Given the description of an element on the screen output the (x, y) to click on. 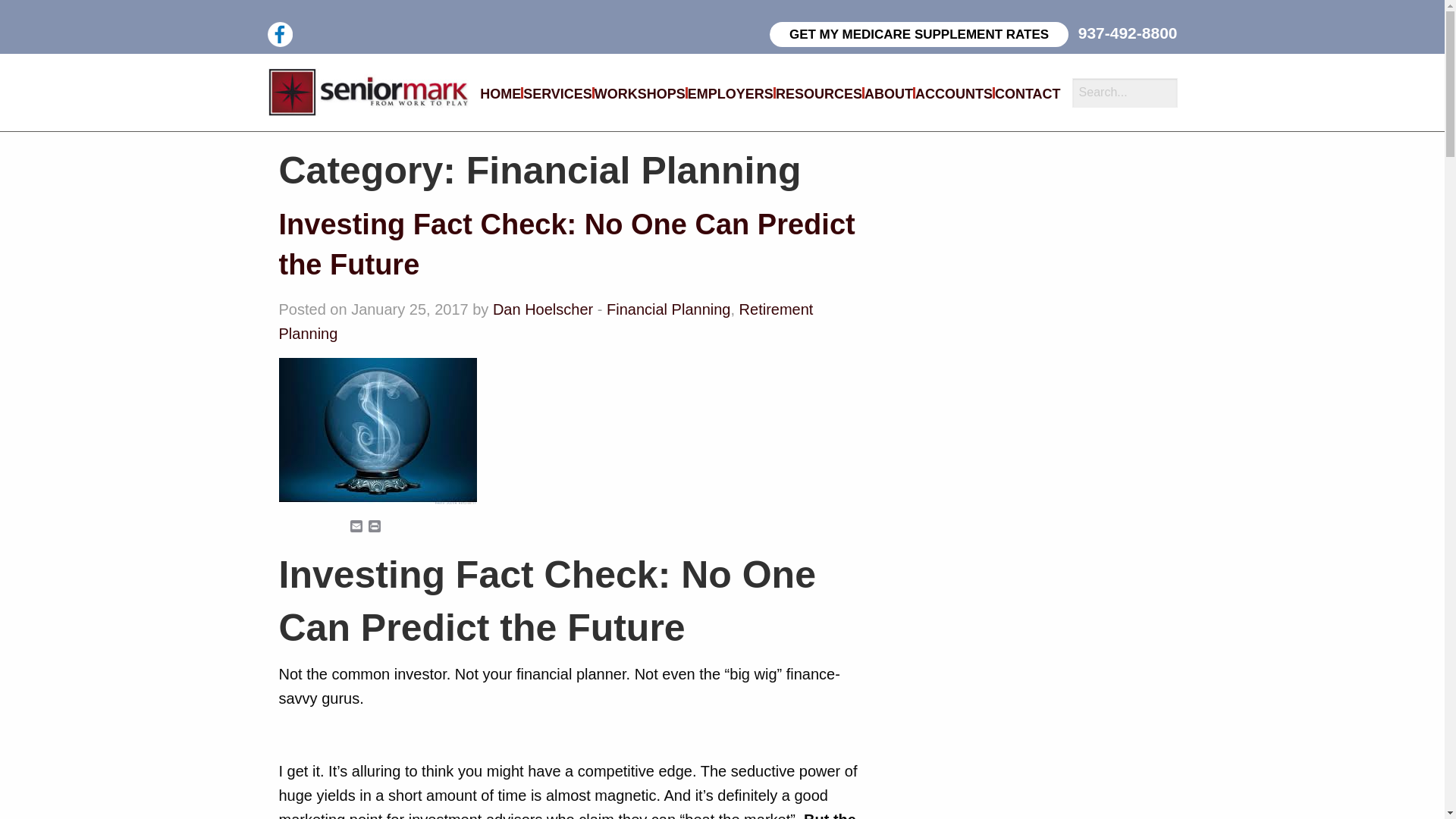
ABOUT (888, 94)
GET MY MEDICARE SUPPLEMENT RATES (919, 34)
937-492-8800 (1127, 32)
EMPLOYERS (730, 94)
Dan Hoelscher (542, 309)
CONTACT (1027, 94)
Search for: (1124, 92)
WORKSHOPS (639, 94)
Financial Planning (668, 309)
Print (374, 527)
Investing Fact Check: No One Can Predict the Future (567, 244)
Email (356, 527)
SERVICES (557, 94)
RESOURCES (818, 94)
Investing Fact Check: No One Can Predict the Future (567, 244)
